Given the description of an element on the screen output the (x, y) to click on. 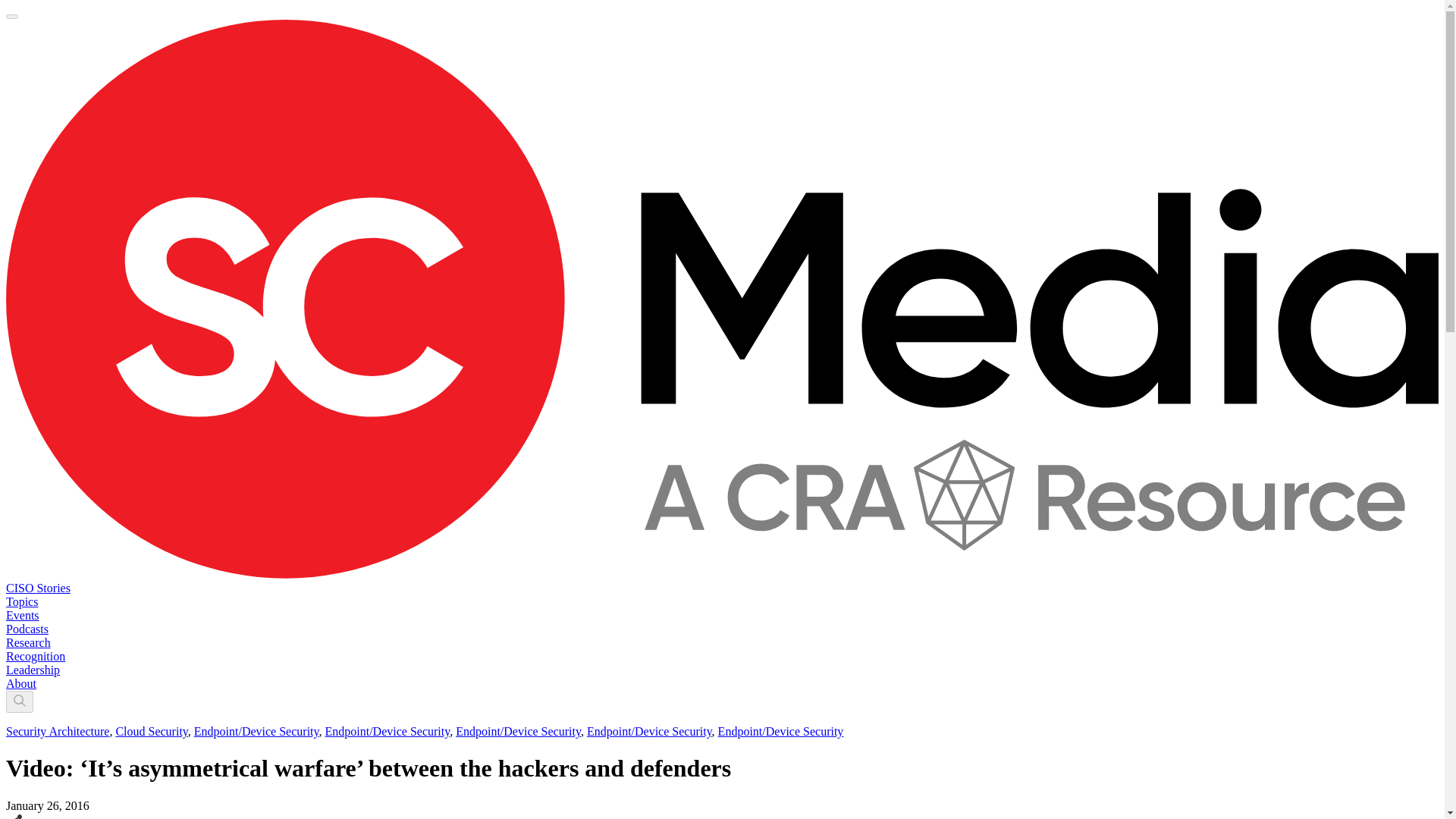
CISO Stories (37, 587)
Podcasts (26, 628)
Topics (21, 601)
Security Architecture (57, 730)
Research (27, 642)
Events (22, 615)
About (20, 683)
Leadership (32, 669)
Cloud Security (151, 730)
Recognition (35, 656)
